Given the description of an element on the screen output the (x, y) to click on. 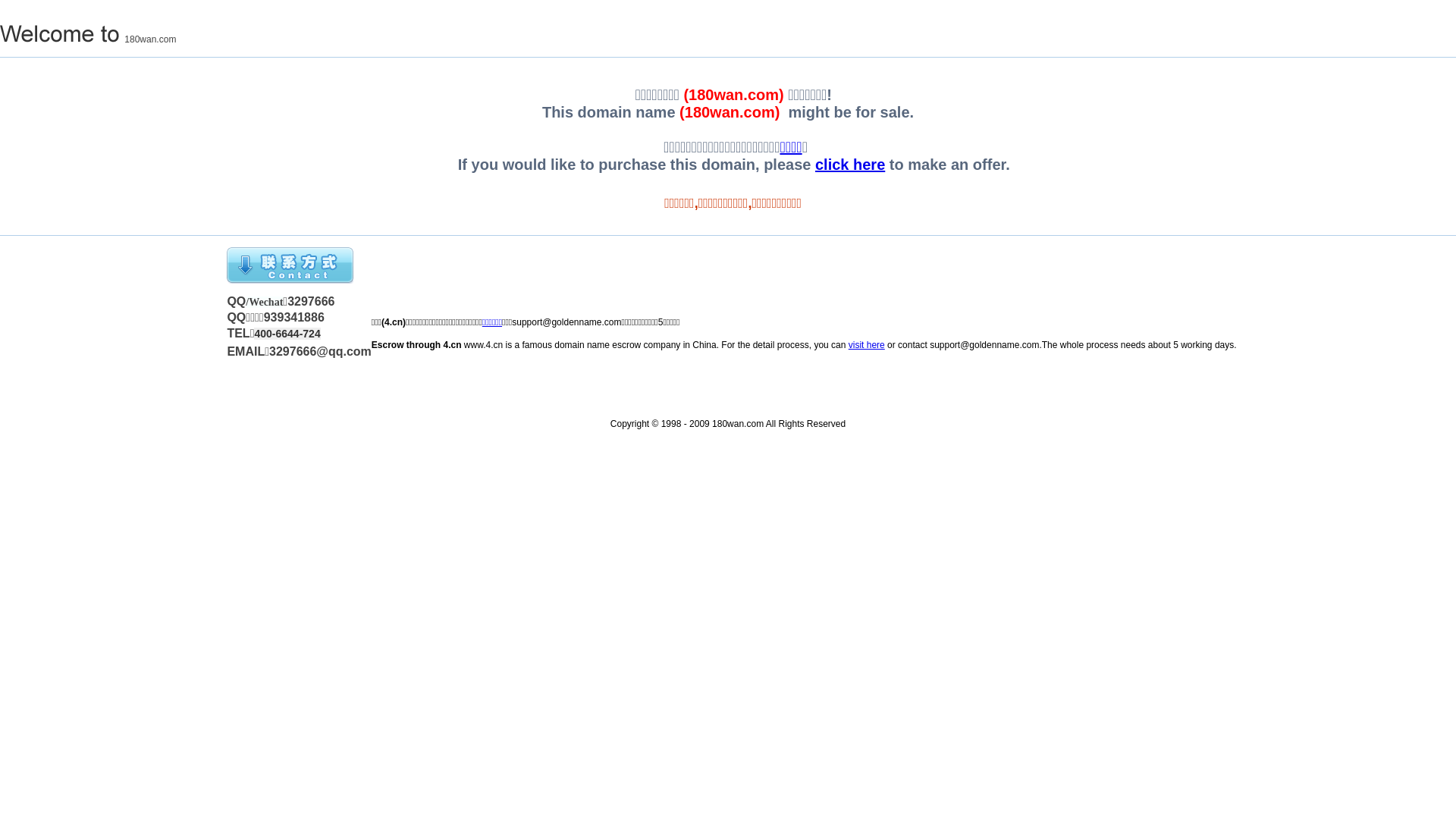
click here Element type: text (849, 164)
visit here Element type: text (866, 344)
